Given the description of an element on the screen output the (x, y) to click on. 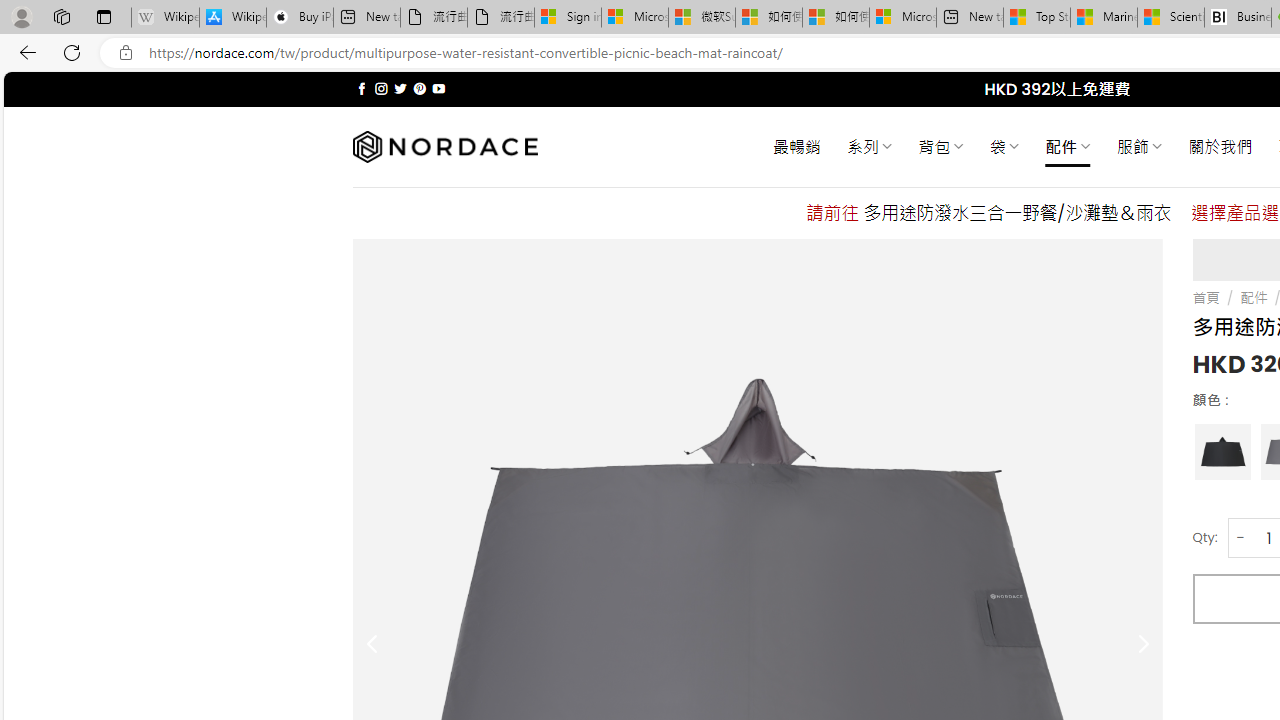
Marine life - MSN (1103, 17)
Follow on Facebook (361, 88)
Top Stories - MSN (1036, 17)
